Given the description of an element on the screen output the (x, y) to click on. 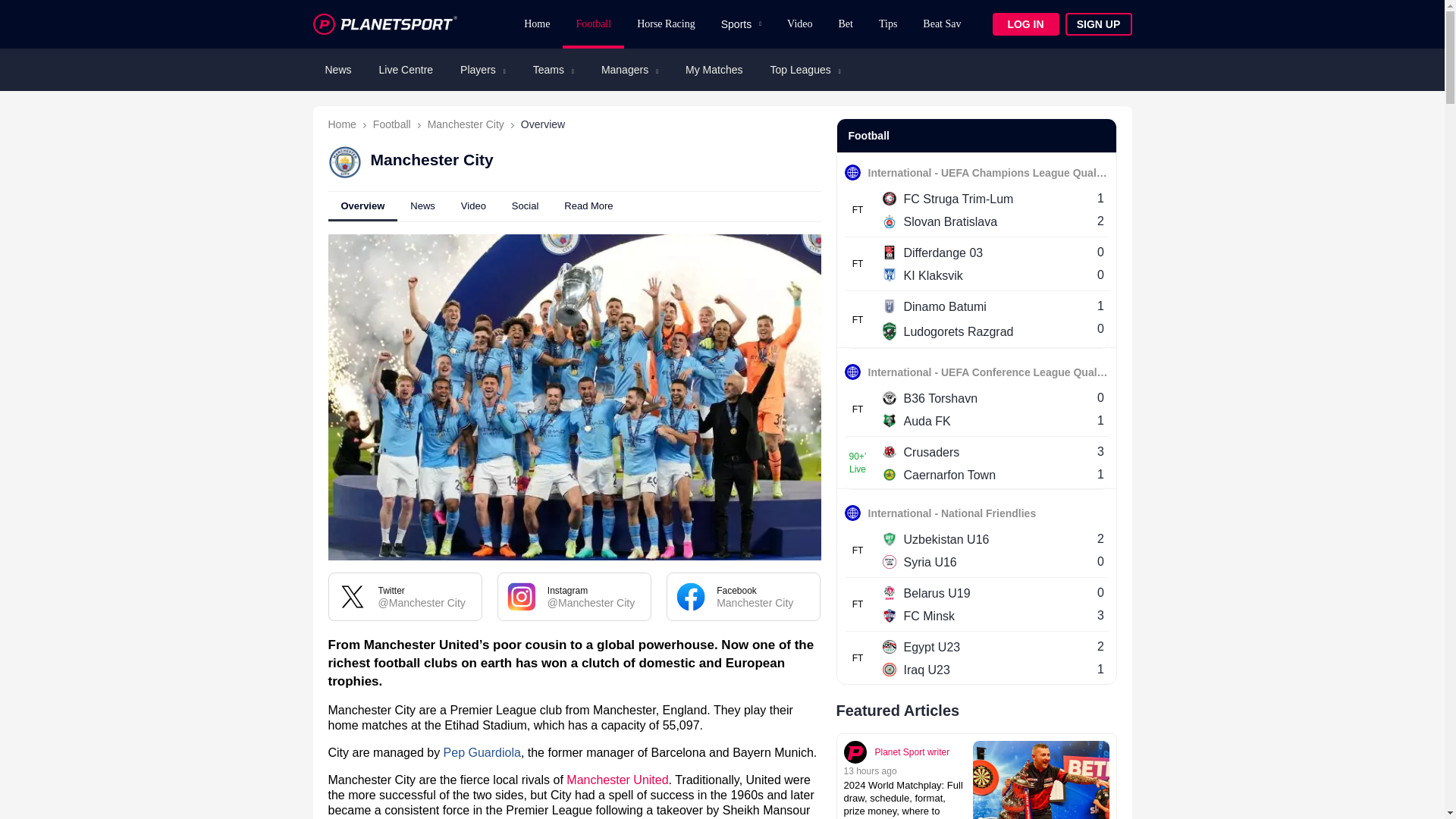
Video (799, 24)
Football (593, 24)
Live Centre (405, 69)
News (337, 69)
Home (536, 24)
Beat Sav (942, 24)
SIGN UP (1097, 24)
LOG IN (1024, 24)
Tips (888, 24)
Horse Racing (665, 24)
